Given the description of an element on the screen output the (x, y) to click on. 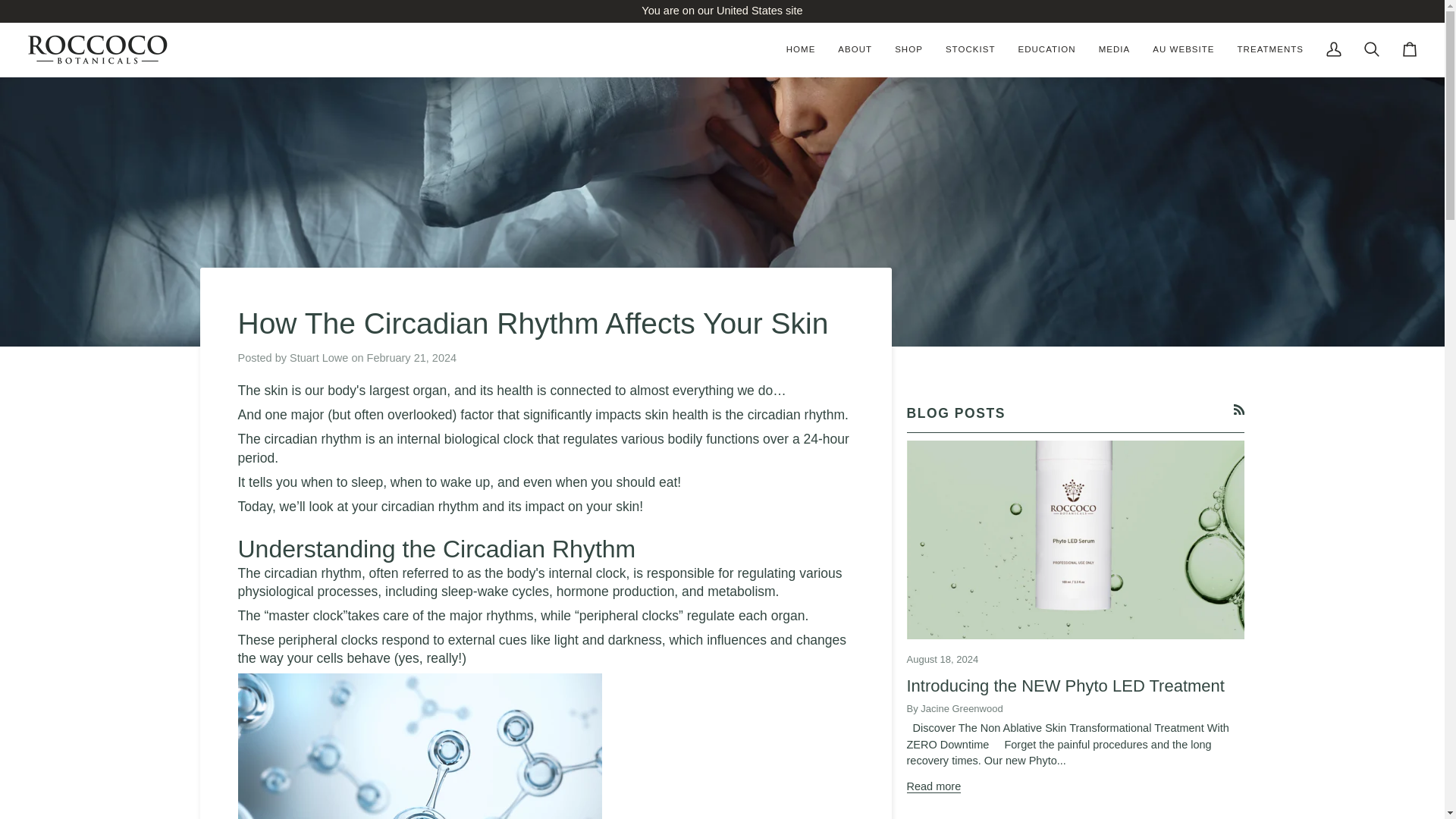
STOCKIST (970, 49)
ABOUT (855, 49)
HOME (800, 49)
Roccoco Botanicals RSS (1238, 409)
SHOP (908, 49)
